Given the description of an element on the screen output the (x, y) to click on. 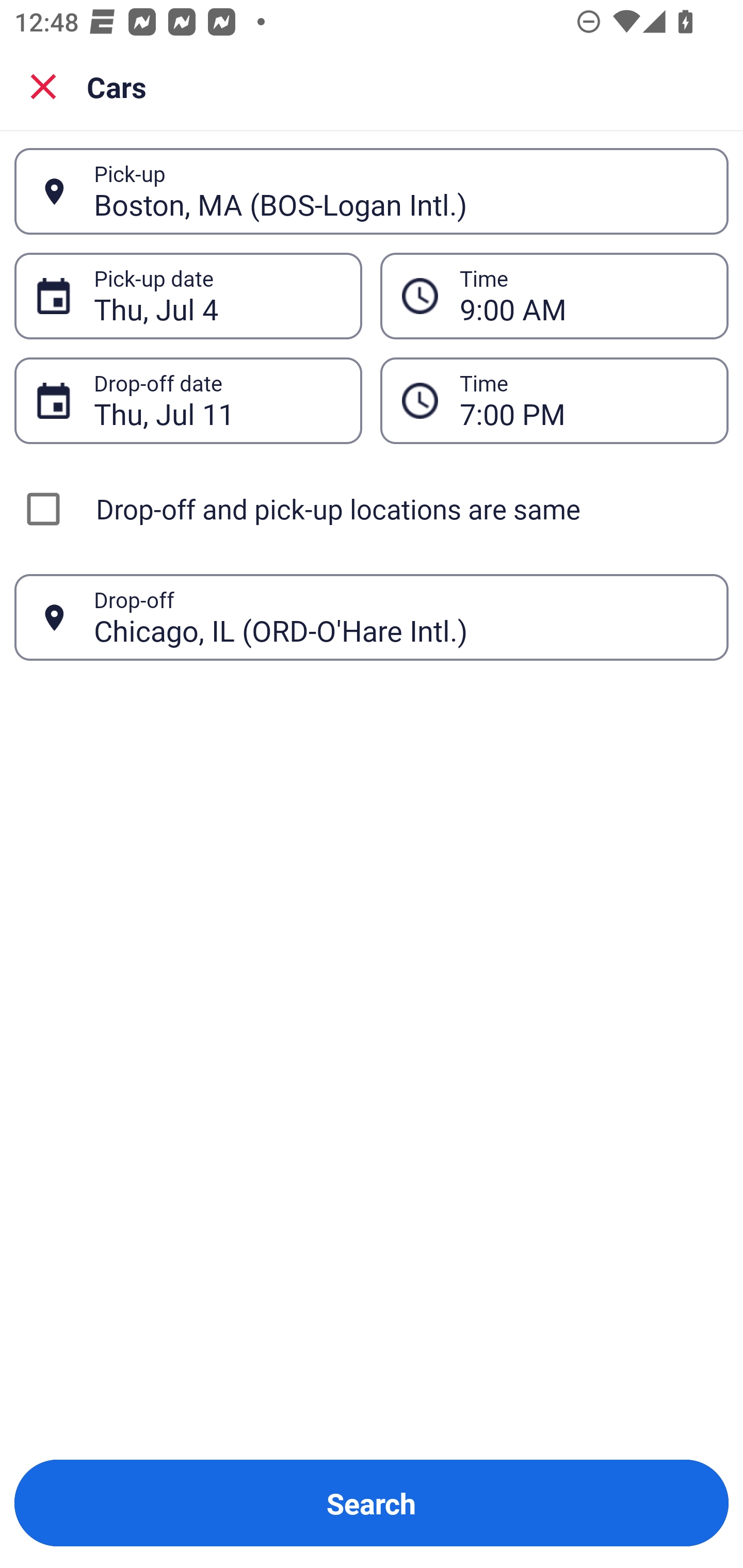
Close search screen (43, 86)
Boston, MA (BOS-Logan Intl.) Pick-up (371, 191)
Boston, MA (BOS-Logan Intl.) (399, 191)
Thu, Jul 4 Pick-up date (188, 295)
9:00 AM (554, 295)
Thu, Jul 4 (216, 296)
9:00 AM (582, 296)
Thu, Jul 11 Drop-off date (188, 400)
7:00 PM (554, 400)
Thu, Jul 11 (216, 400)
7:00 PM (582, 400)
Drop-off and pick-up locations are same (371, 508)
Chicago, IL (ORD-O'Hare Intl.) Drop-off (371, 616)
Chicago, IL (ORD-O'Hare Intl.) (399, 616)
Search Button Search (371, 1502)
